Given the description of an element on the screen output the (x, y) to click on. 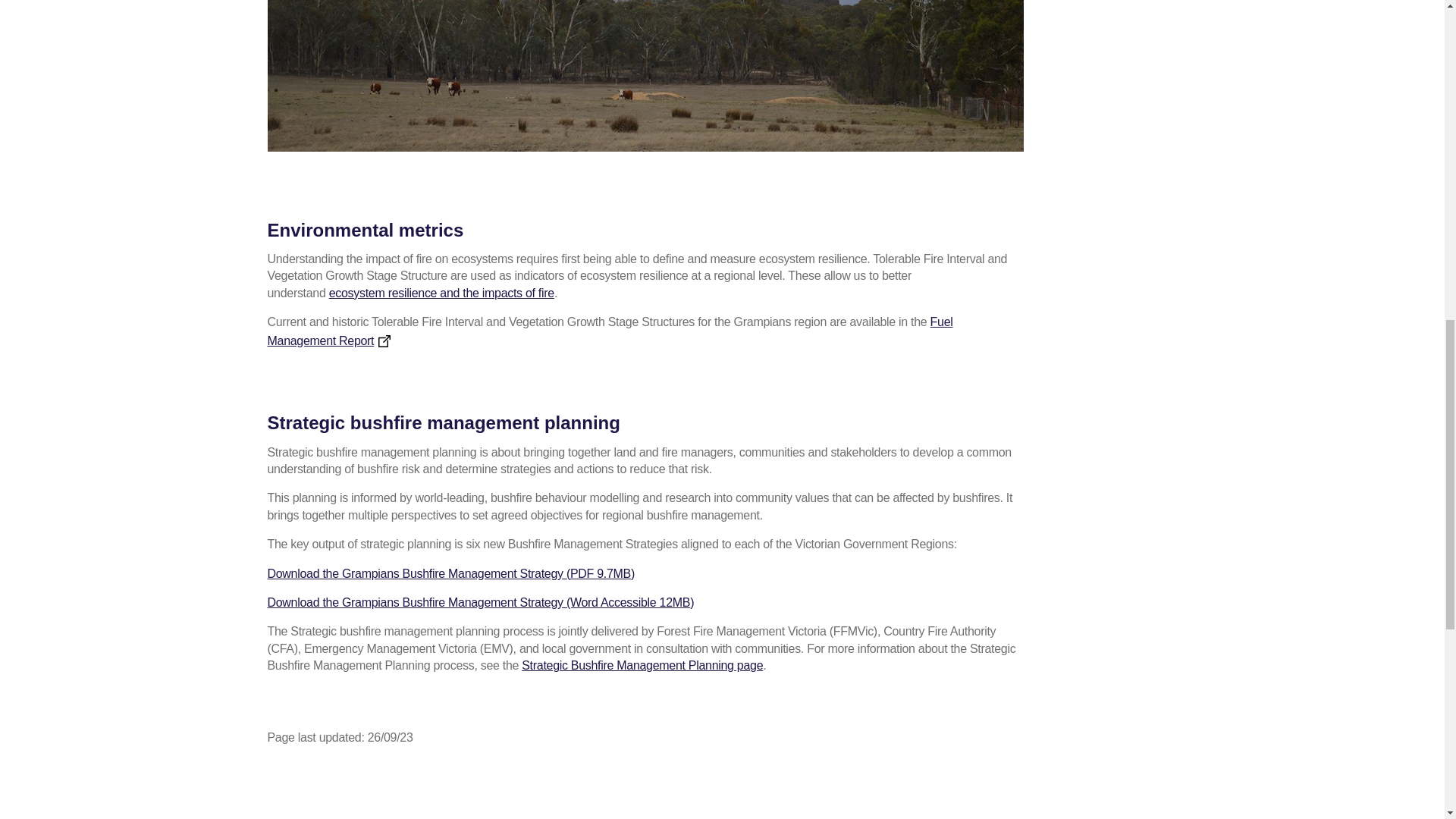
Strategic Bushfire Management Planning page (641, 665)
Fuel Management Report (609, 330)
ecosystem resilience and the impacts of fire (441, 292)
